Given the description of an element on the screen output the (x, y) to click on. 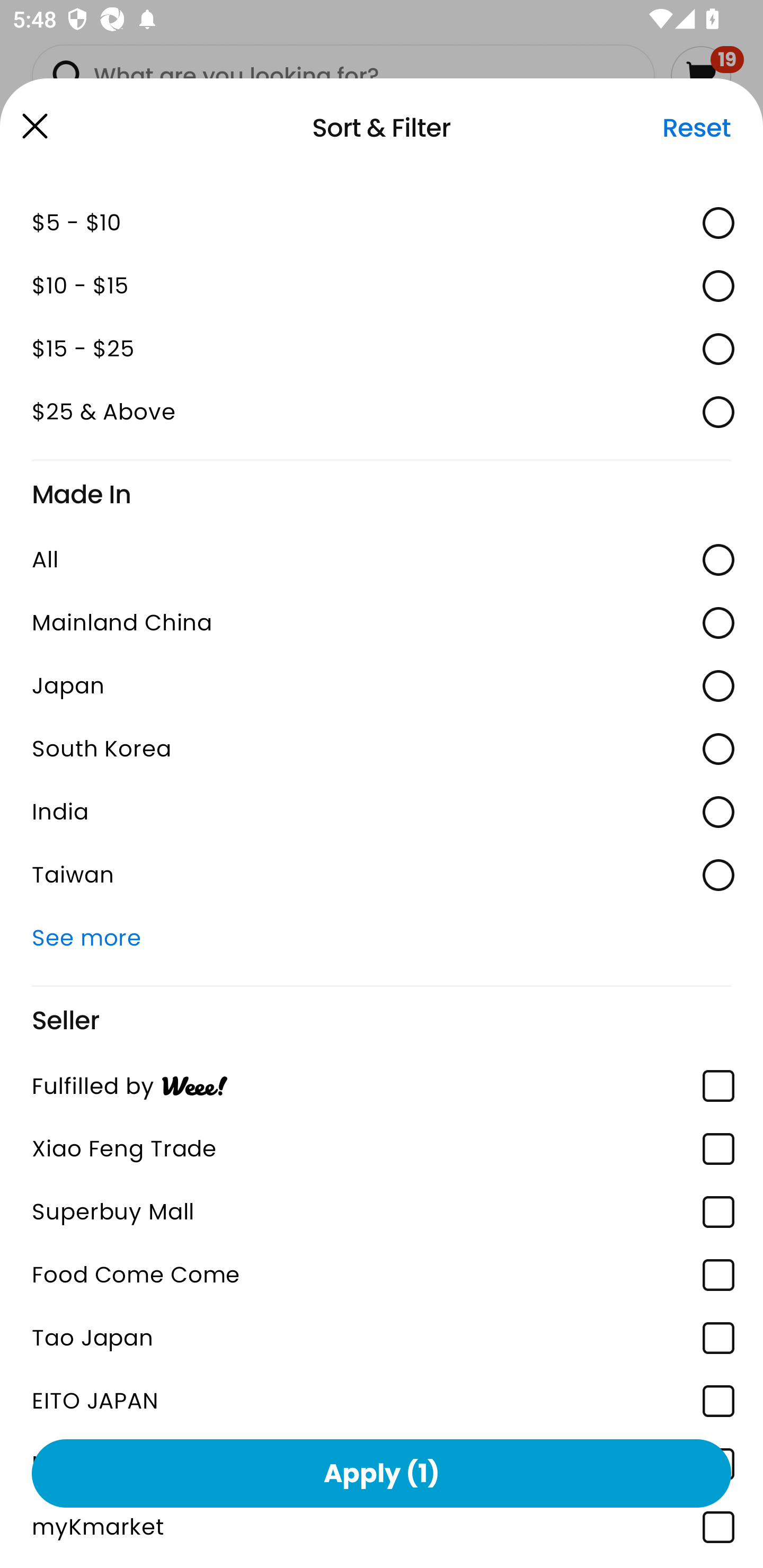
Reset (696, 127)
See more (381, 937)
Apply (1) (381, 1472)
